Given the description of an element on the screen output the (x, y) to click on. 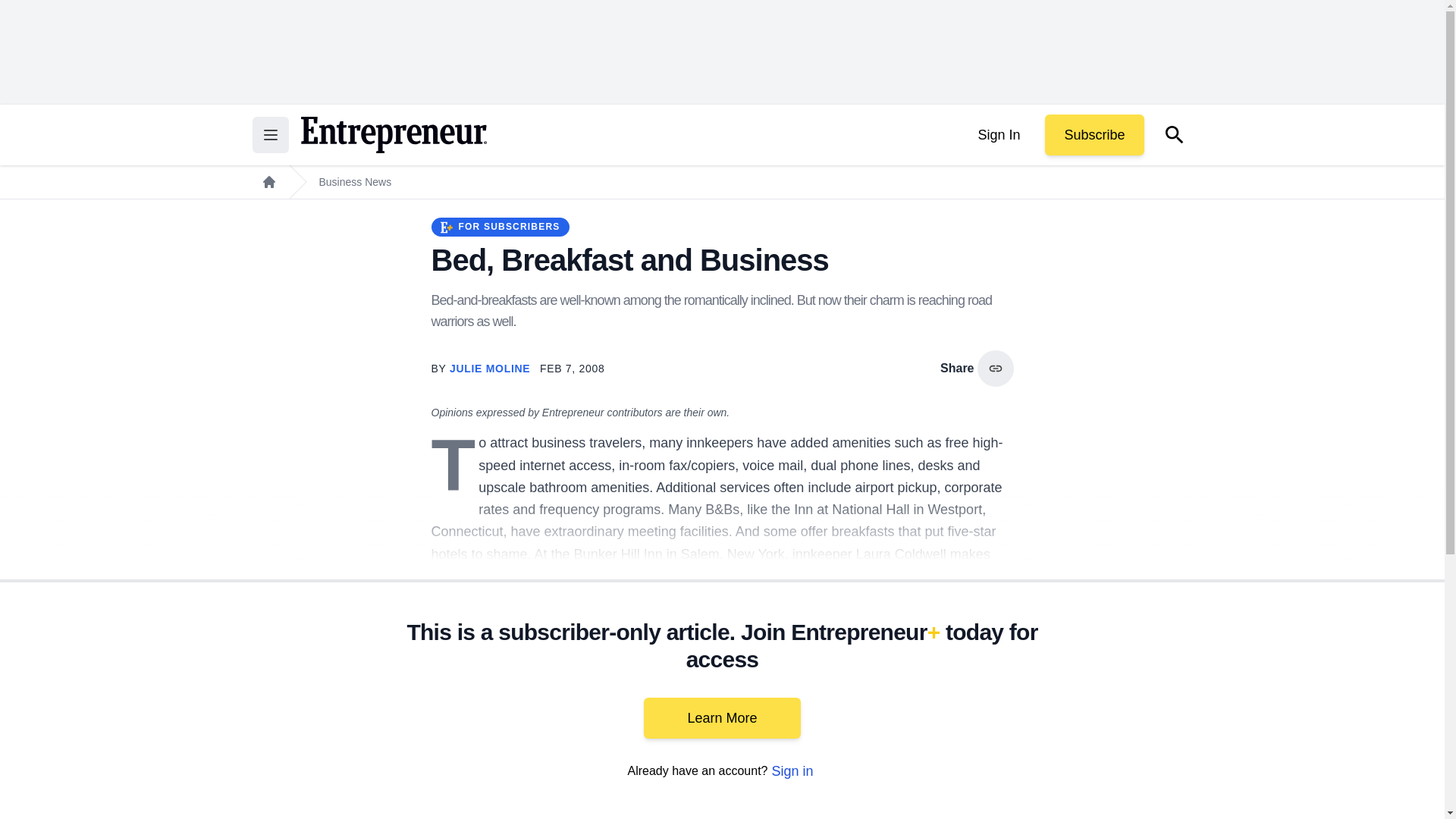
Return to the home page (392, 135)
Sign In (998, 134)
copy (994, 368)
Subscribe (1093, 134)
